Given the description of an element on the screen output the (x, y) to click on. 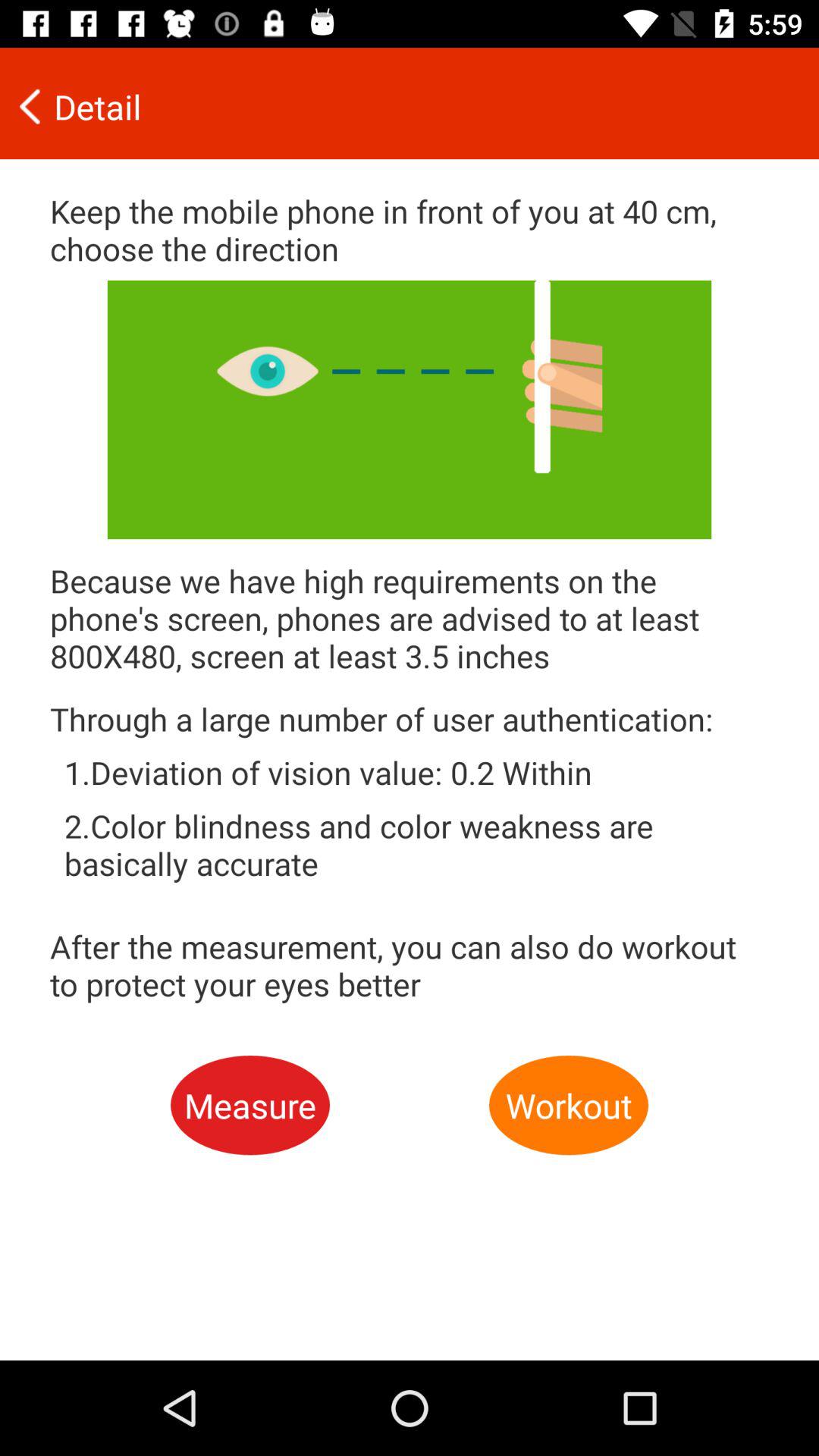
select item at the bottom left corner (249, 1105)
